Given the description of an element on the screen output the (x, y) to click on. 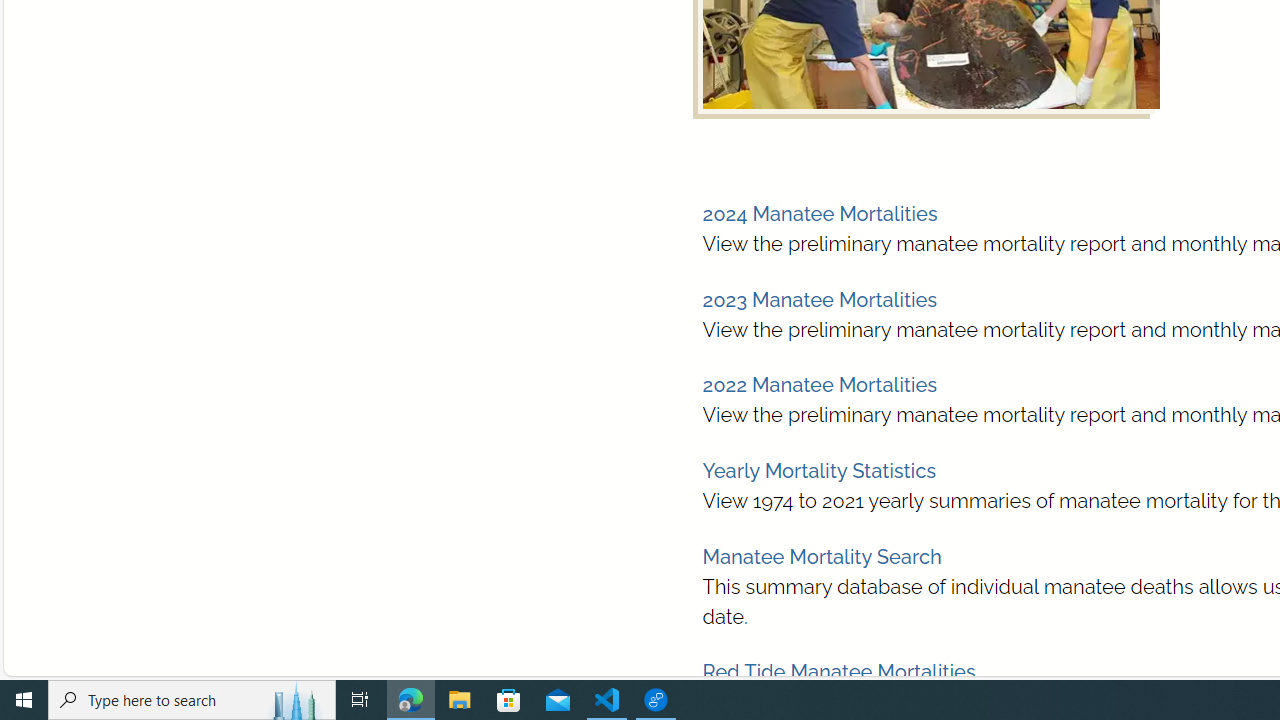
2023 Manatee Mortalities (819, 299)
Manatee Mortality Search (821, 556)
Yearly Mortality Statistics (818, 471)
Red Tide Manatee Mortalities (838, 672)
2022 Manatee Mortalities (818, 385)
2024 Manatee Mortalities (819, 214)
